Given the description of an element on the screen output the (x, y) to click on. 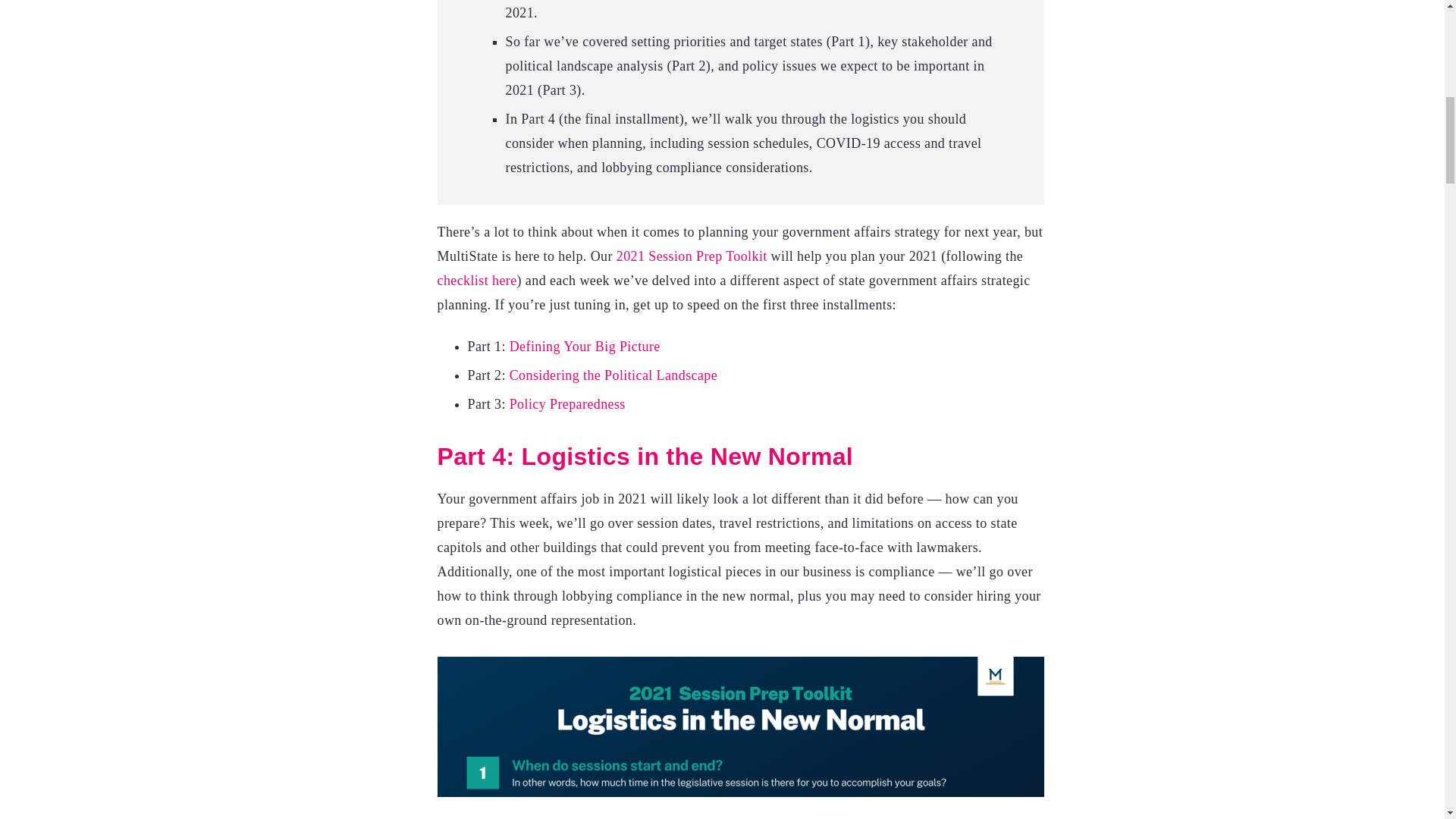
Defining Your Big Picture (585, 346)
Policy Preparedness (567, 403)
checklist here (476, 280)
Considering the Political Landscape (613, 375)
Click to open full size image (739, 737)
2021 Session Prep Toolkit (691, 255)
